Given the description of an element on the screen output the (x, y) to click on. 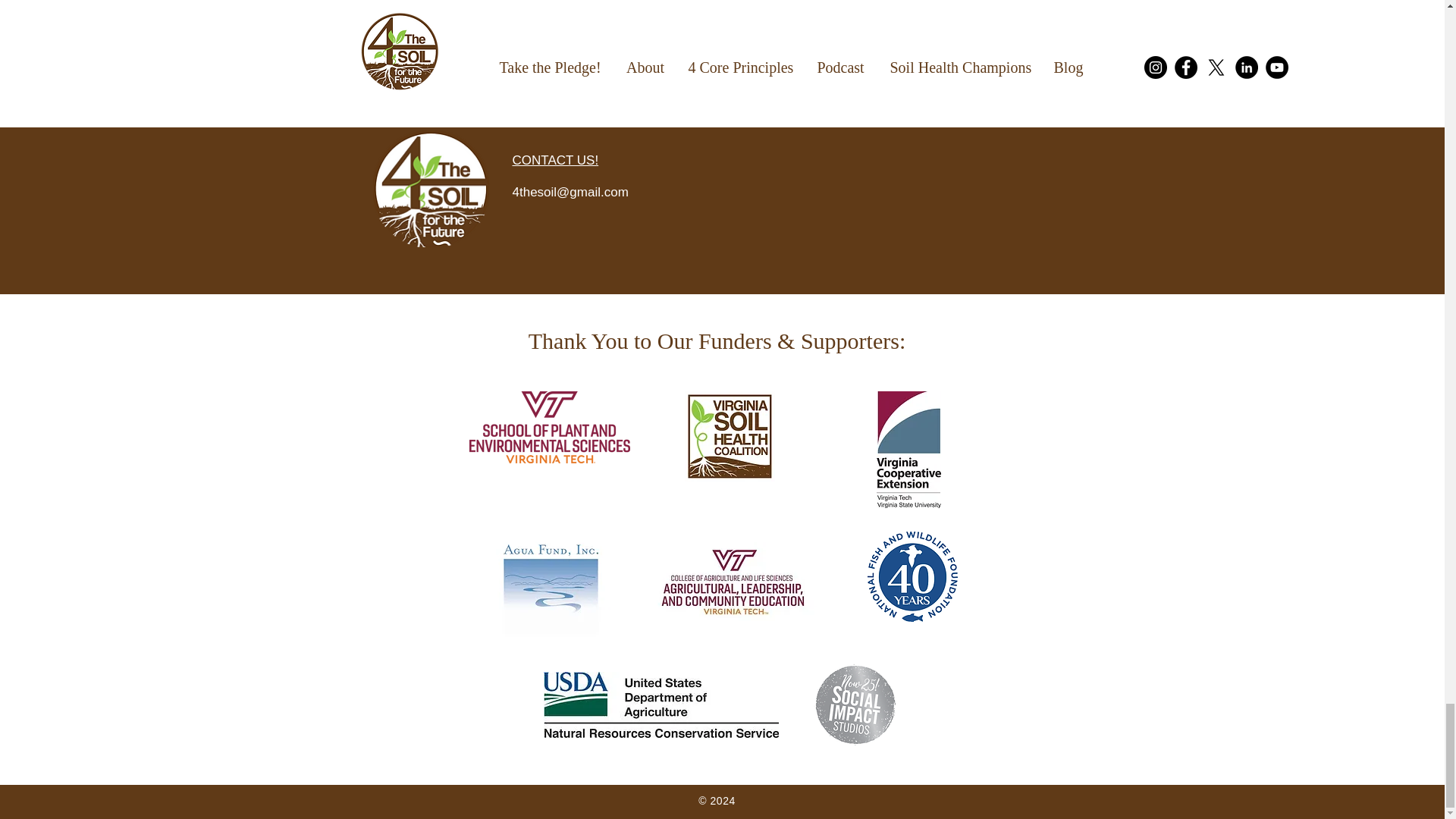
School of Plant and Enviro Sciences Vert (548, 427)
